Given the description of an element on the screen output the (x, y) to click on. 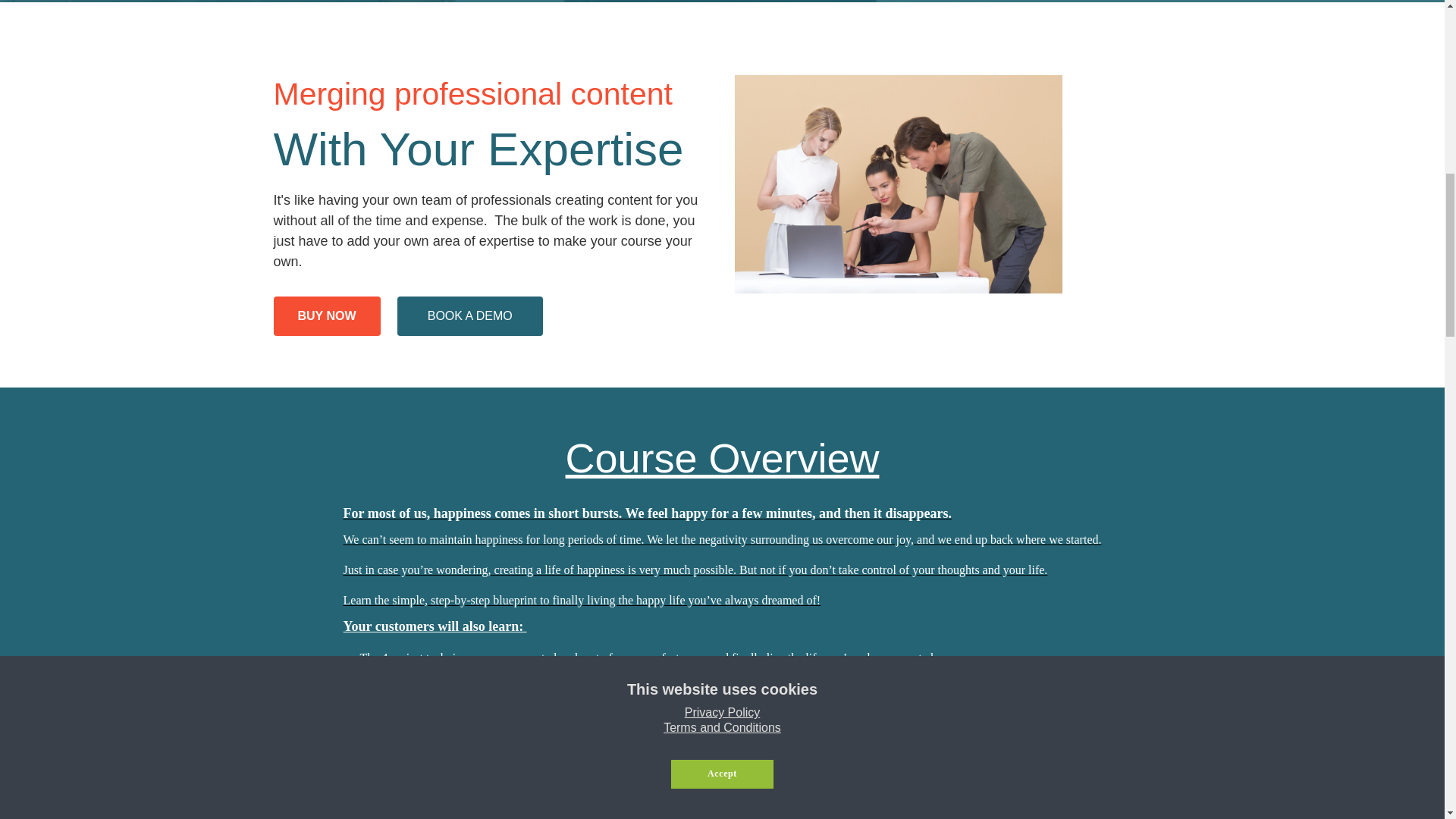
BUY NOW (326, 315)
BOOK A DEMO (470, 315)
